Given the description of an element on the screen output the (x, y) to click on. 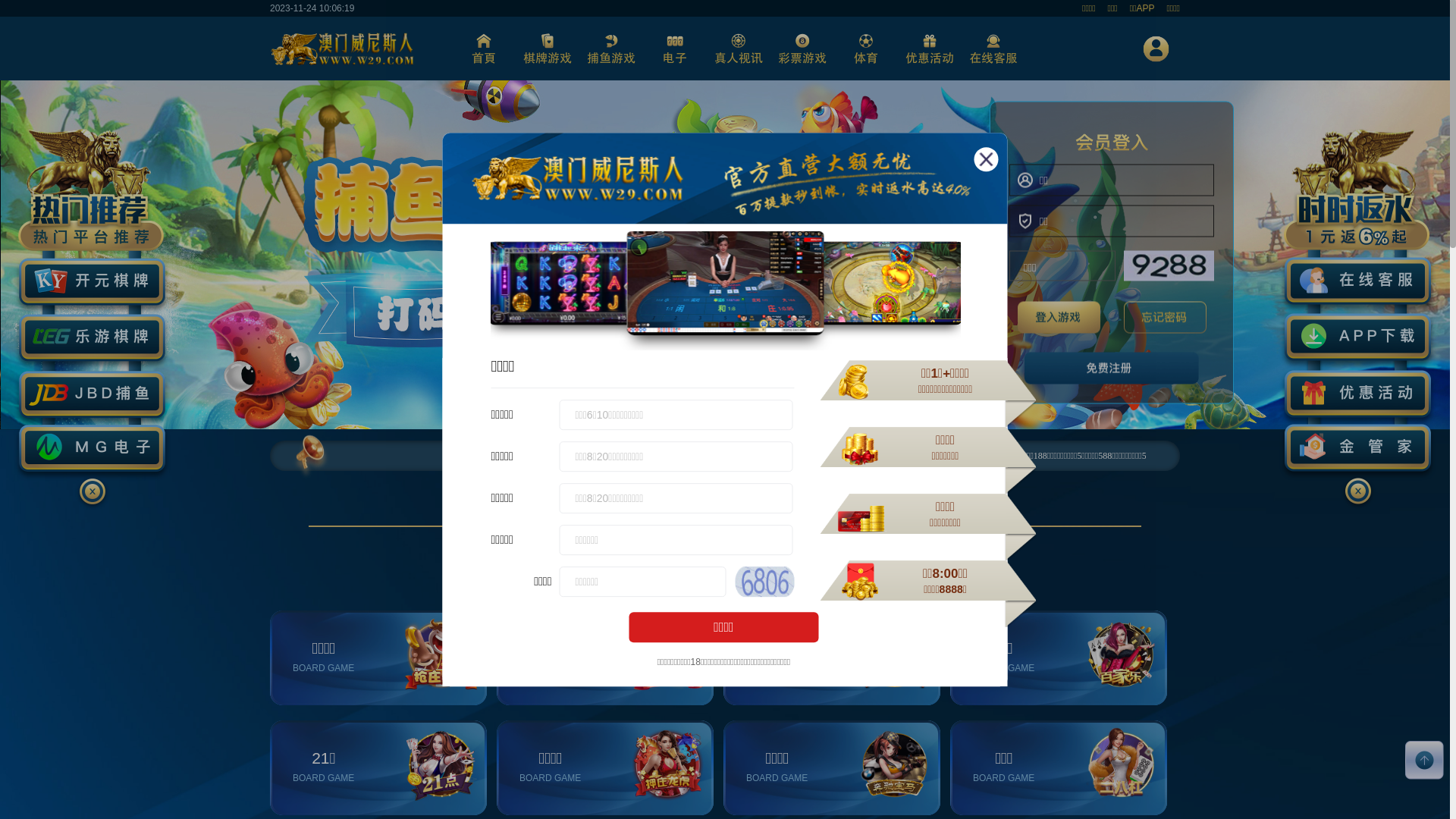
2023-11-24 10:06:18 Element type: text (311, 7)
